Given the description of an element on the screen output the (x, y) to click on. 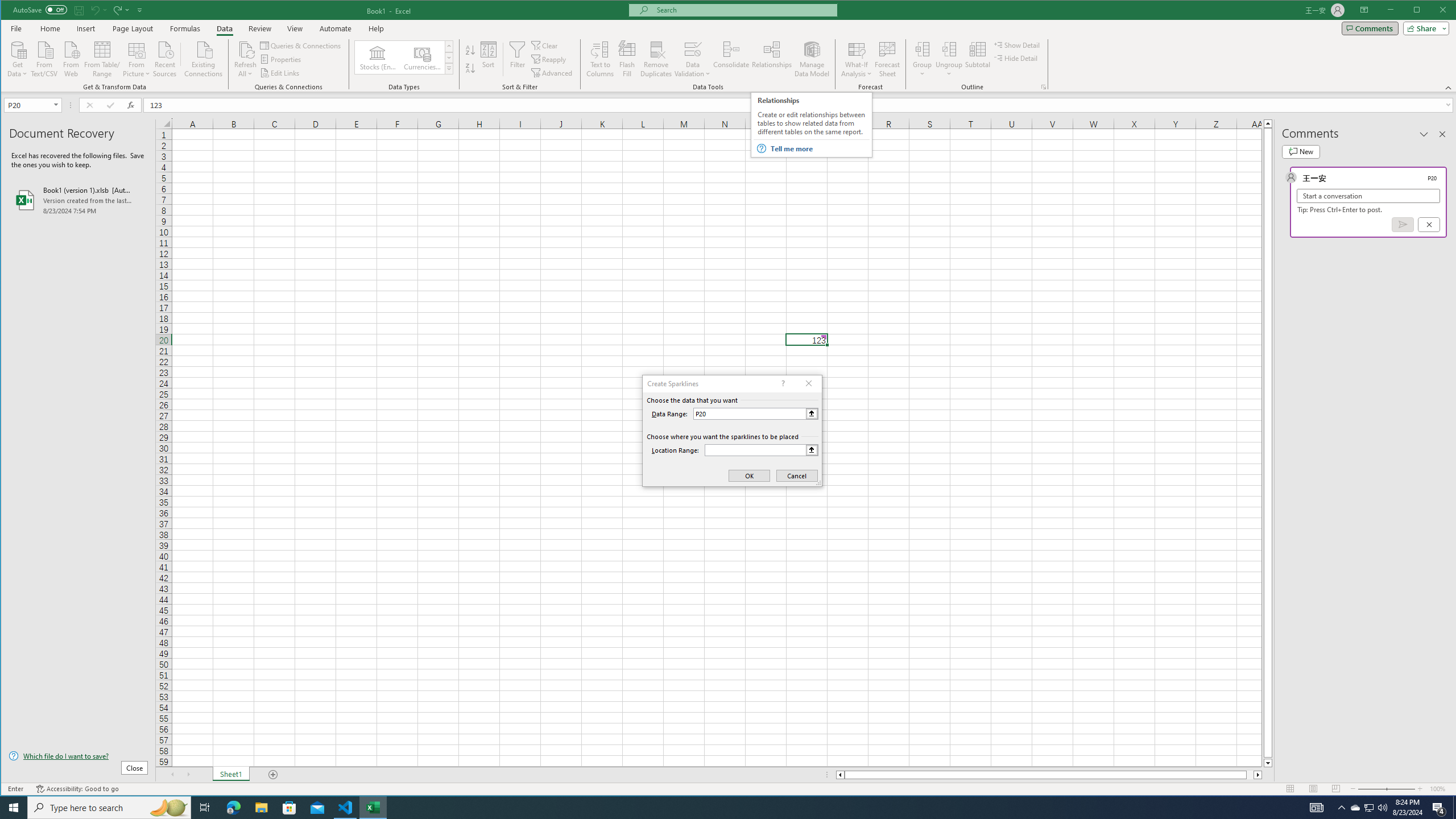
Consolidate... (731, 59)
Tell me more (819, 148)
